Given the description of an element on the screen output the (x, y) to click on. 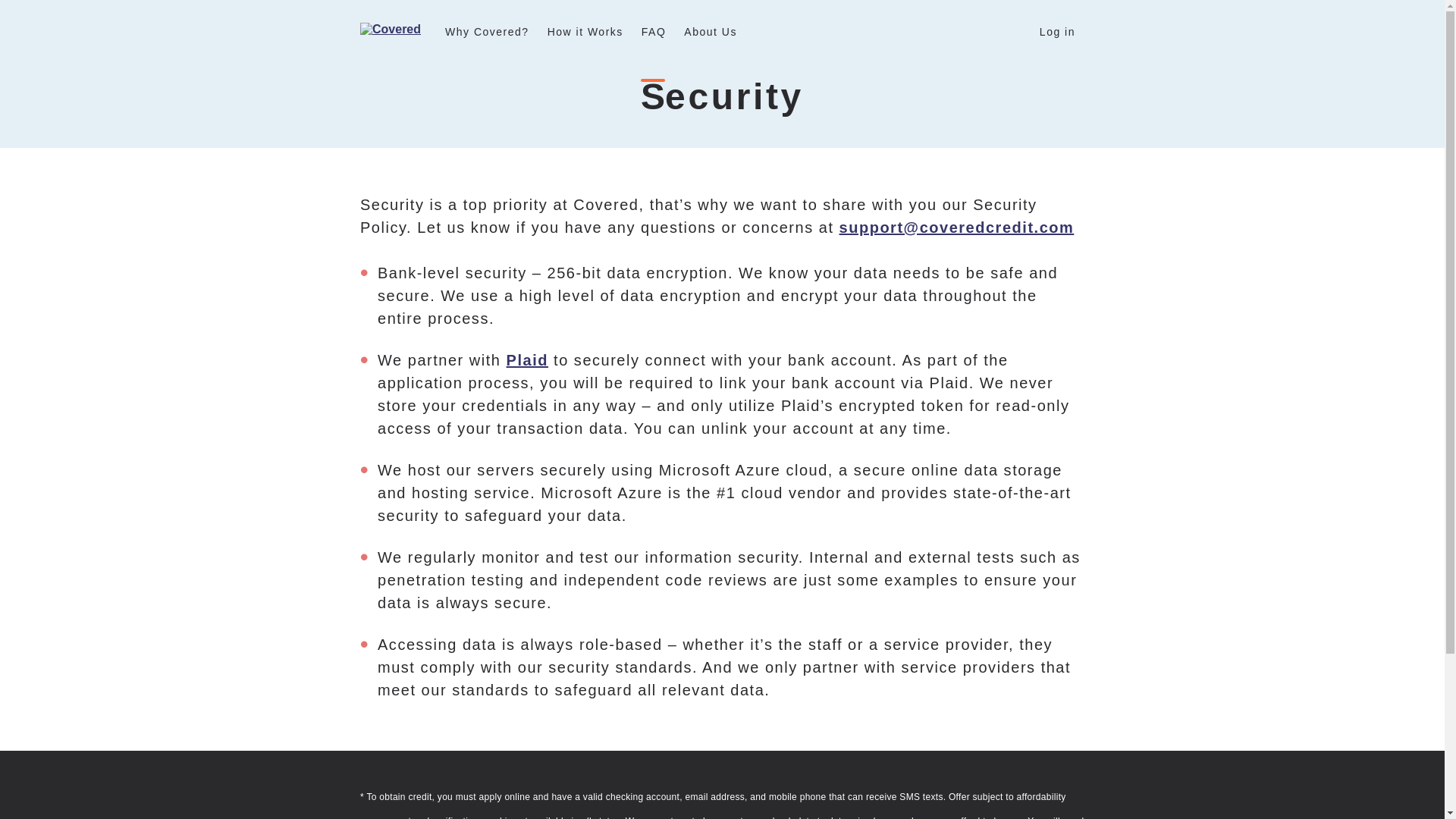
Plaid (527, 360)
Log in (1057, 30)
How it Works (585, 30)
Why Covered? (487, 30)
About Us (710, 30)
FAQ (654, 30)
